Given the description of an element on the screen output the (x, y) to click on. 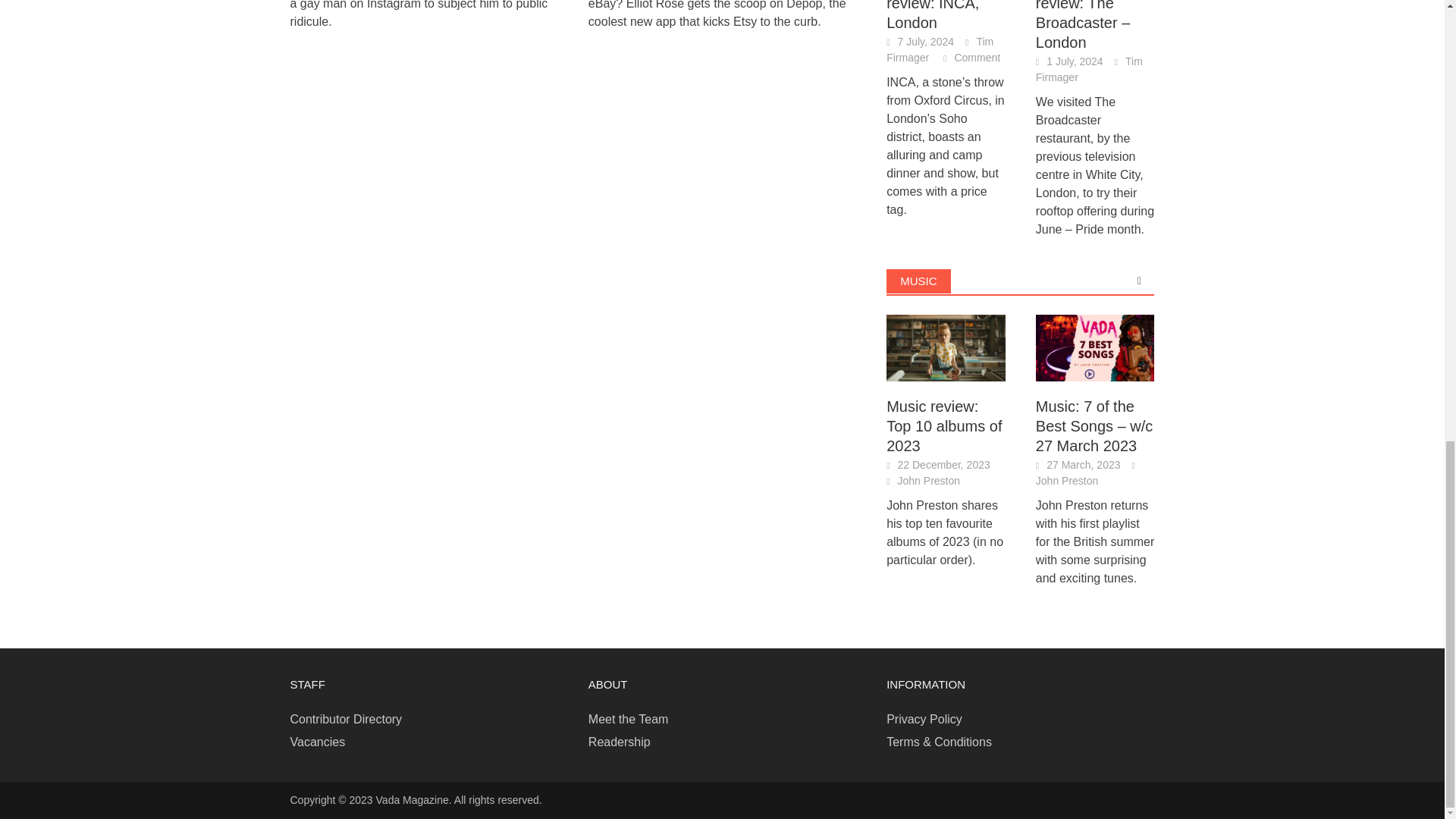
Music review: Top 10 albums of 2023 (946, 346)
